Given the description of an element on the screen output the (x, y) to click on. 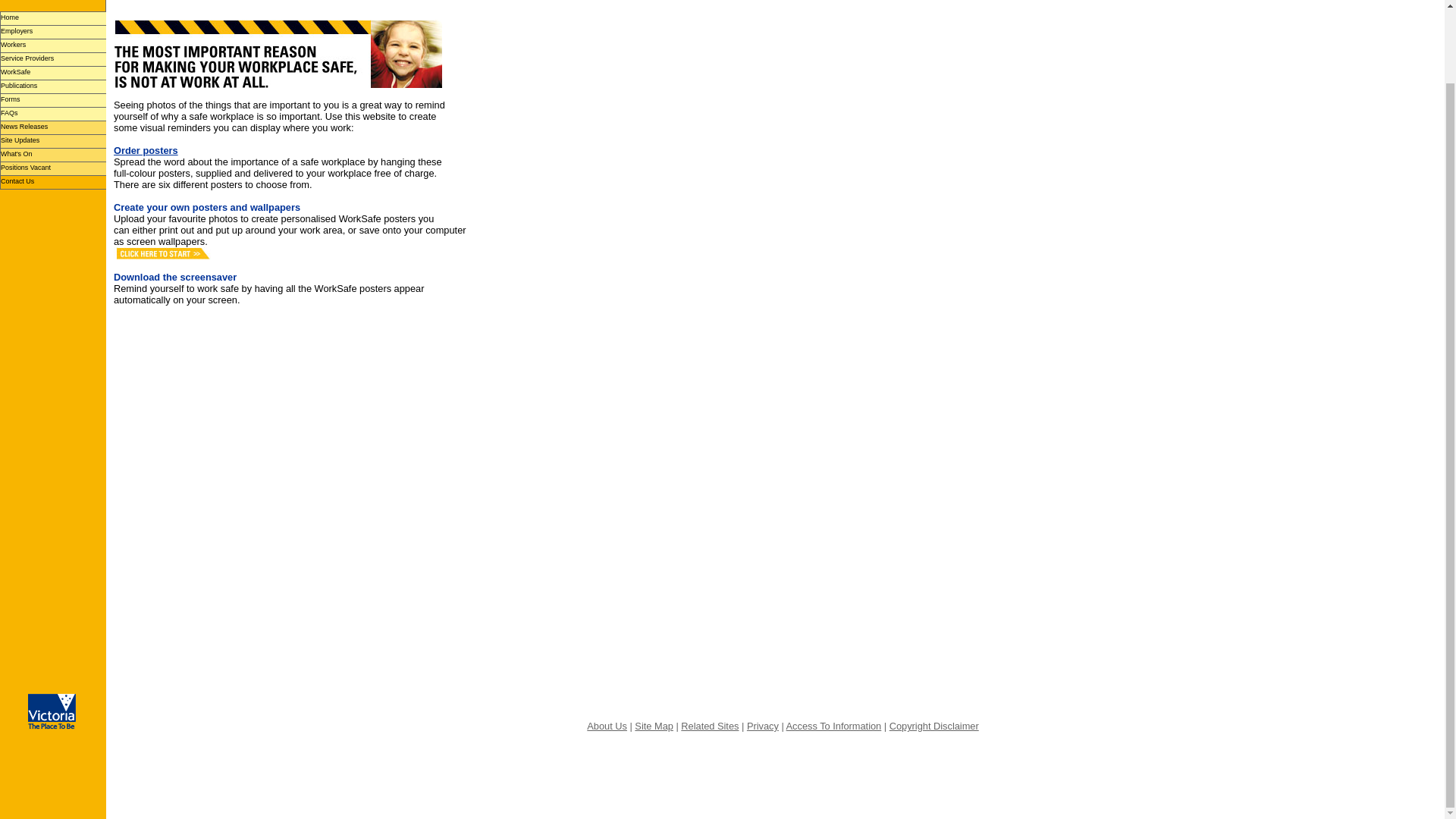
Download the screensaver (174, 276)
Privacy (762, 726)
Service Providers (53, 59)
News Releases (53, 127)
Employers (53, 31)
Publications (53, 86)
WorkSafe (53, 72)
Forms (53, 100)
Create your own posters and wallpapers (206, 206)
Site Updates (53, 141)
